Given the description of an element on the screen output the (x, y) to click on. 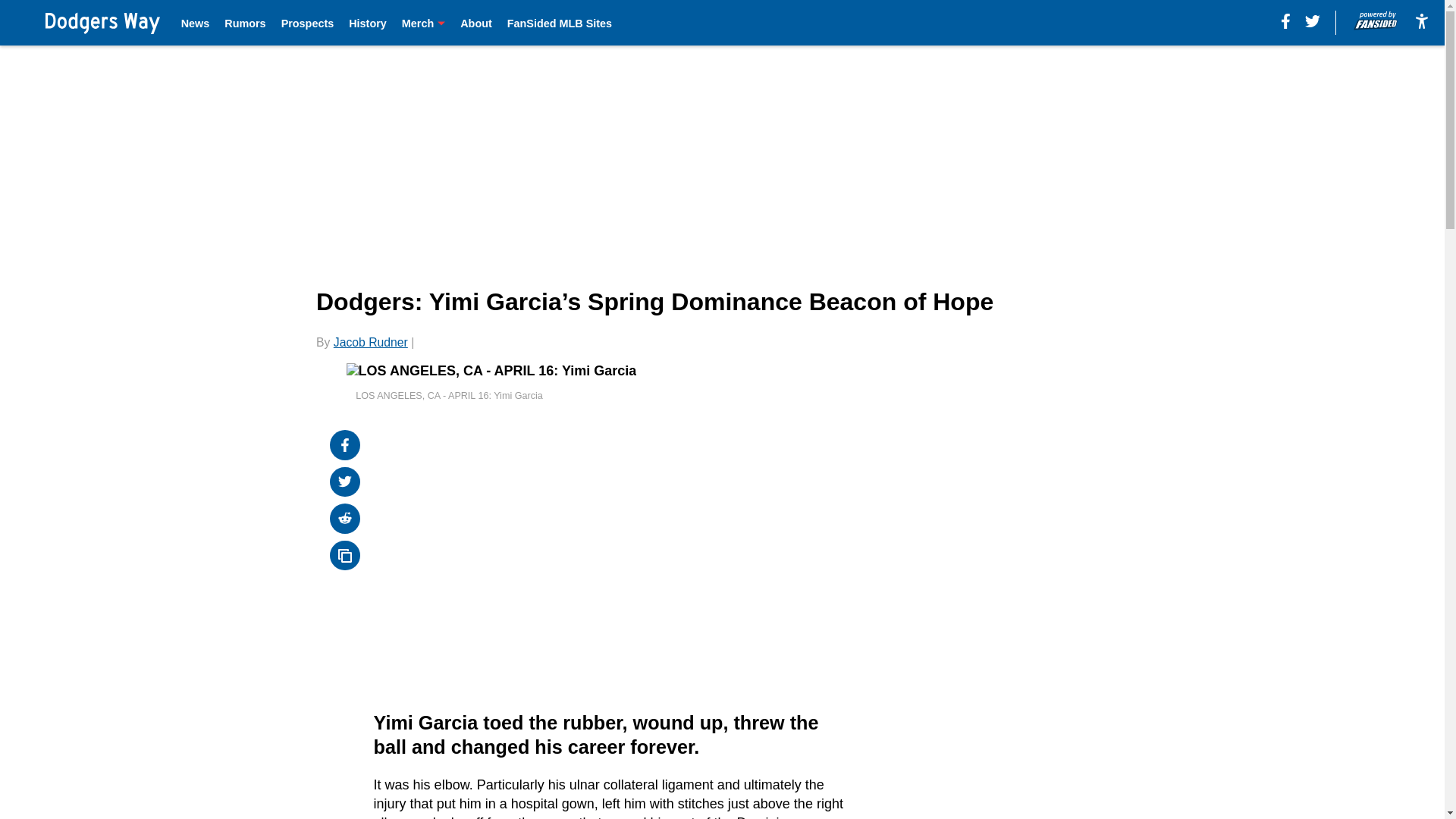
Prospects (307, 23)
FanSided MLB Sites (558, 23)
Rumors (244, 23)
News (194, 23)
Jacob Rudner (370, 341)
History (368, 23)
About (476, 23)
